Given the description of an element on the screen output the (x, y) to click on. 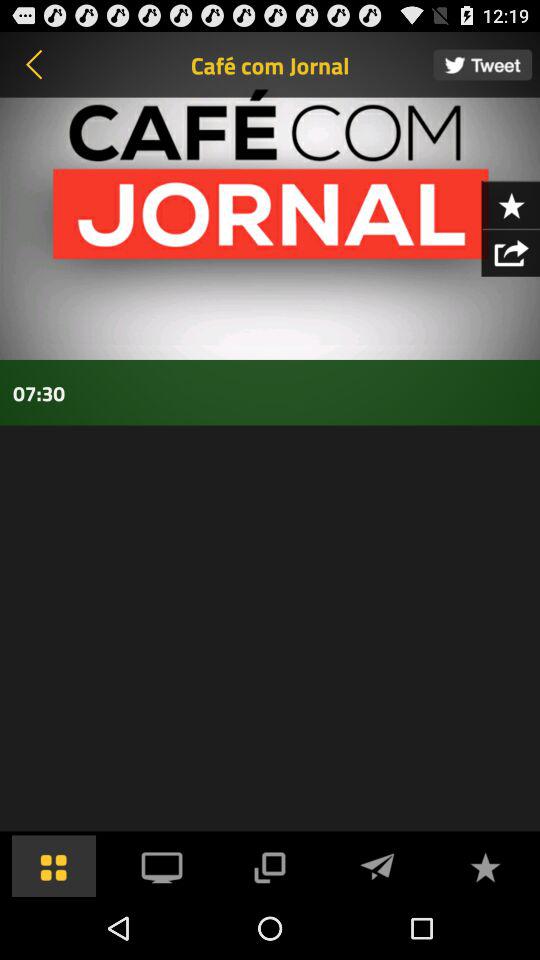
toggle screen share option (269, 865)
